Given the description of an element on the screen output the (x, y) to click on. 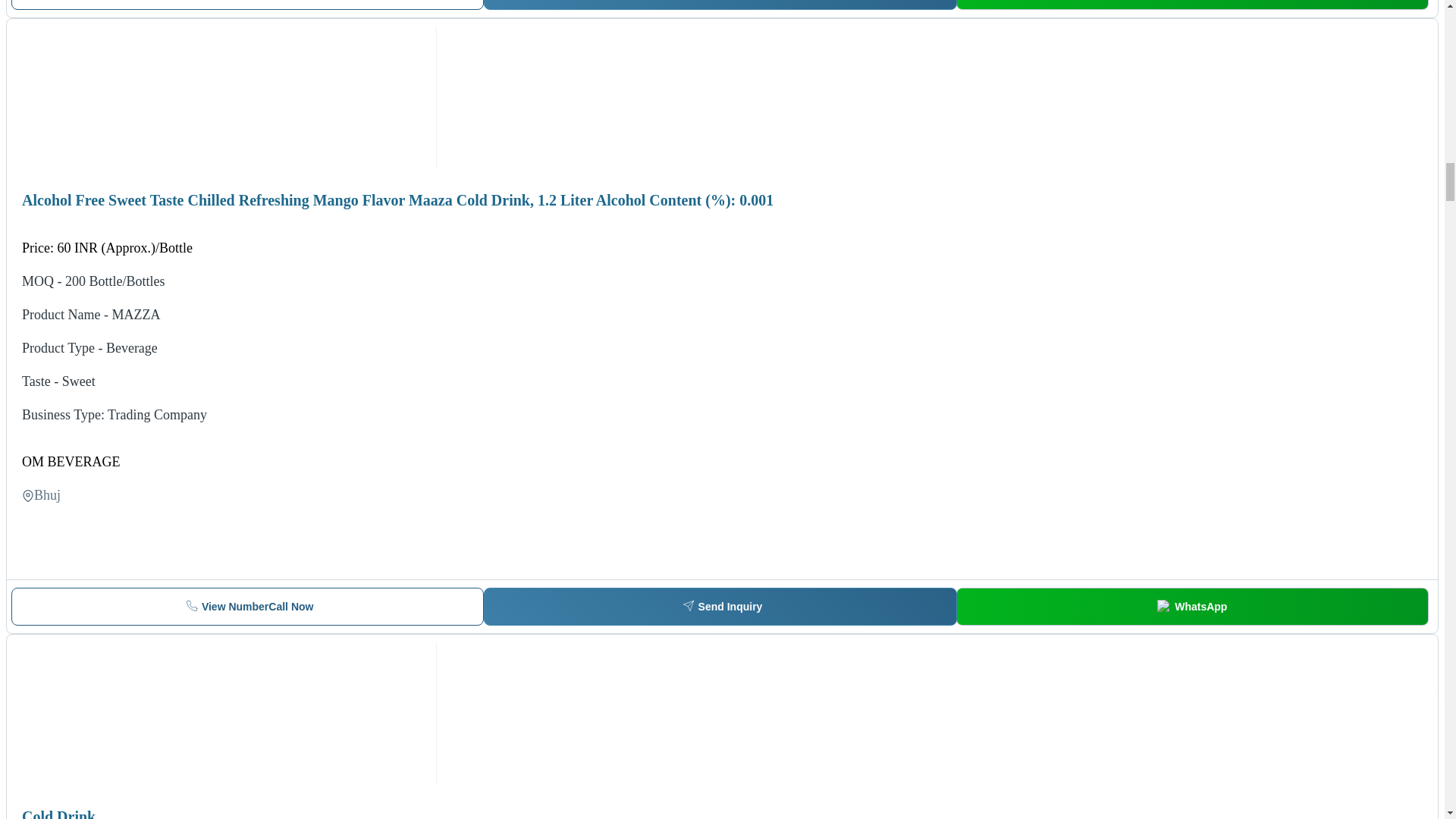
Send Inquiry (247, 4)
WhatsApp (719, 4)
